Given the description of an element on the screen output the (x, y) to click on. 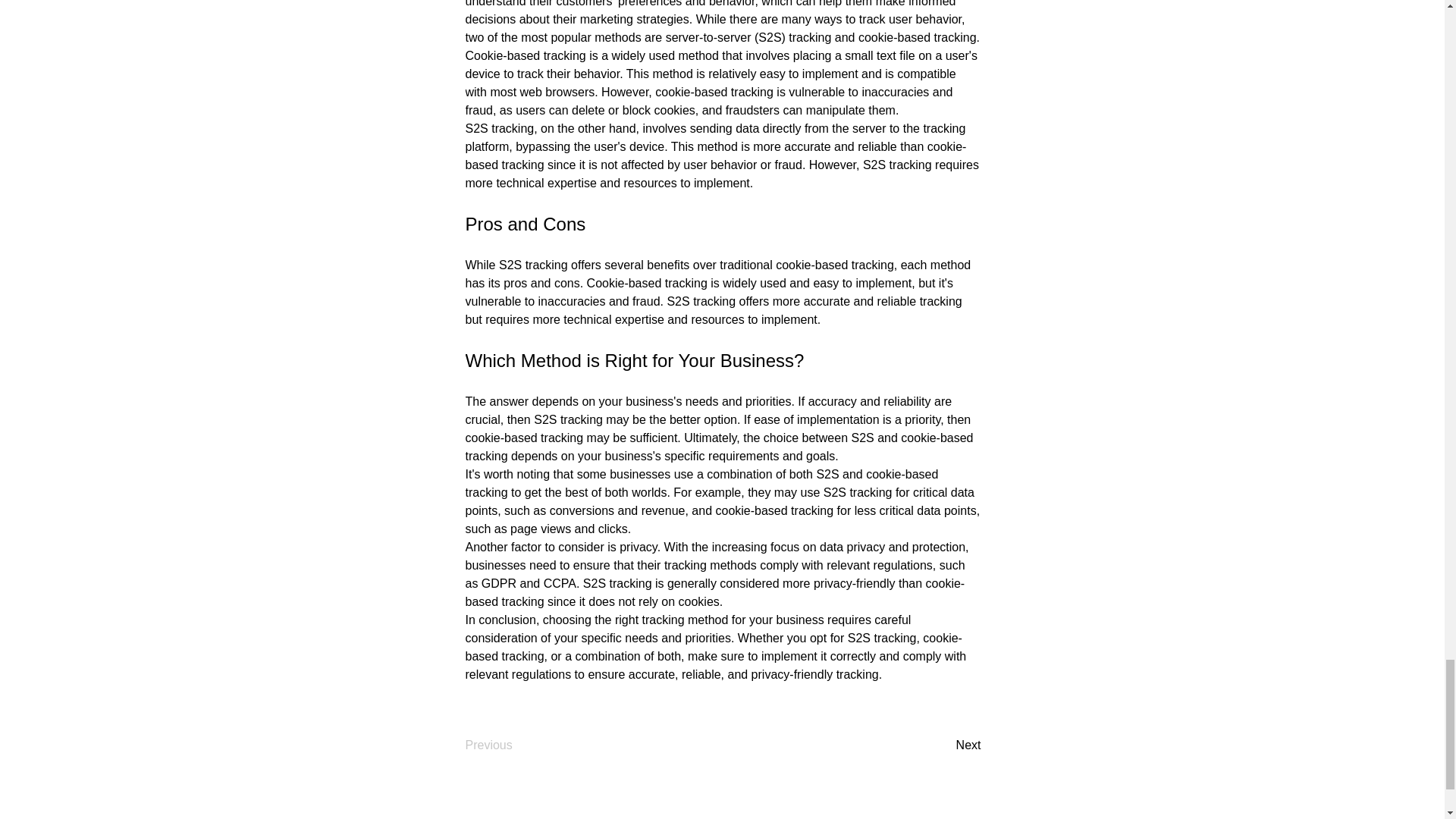
Previous (515, 745)
Next (943, 745)
